Given the description of an element on the screen output the (x, y) to click on. 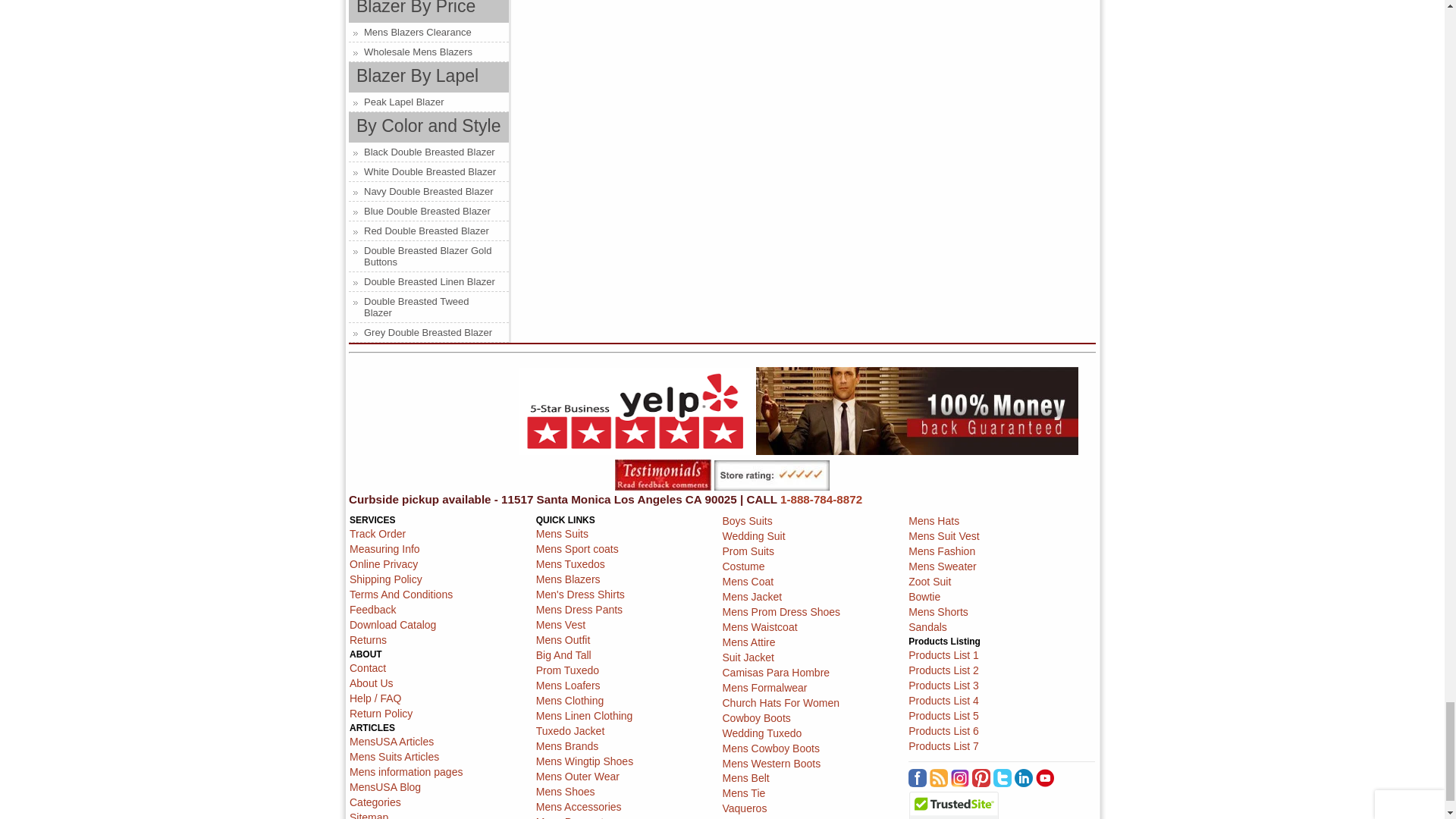
Shipping Policy (385, 579)
store-rating (771, 475)
money back guarantee (916, 410)
testimonials (662, 474)
Measuring Info (384, 548)
Order Status (377, 533)
Online Privacy (383, 563)
